Given the description of an element on the screen output the (x, y) to click on. 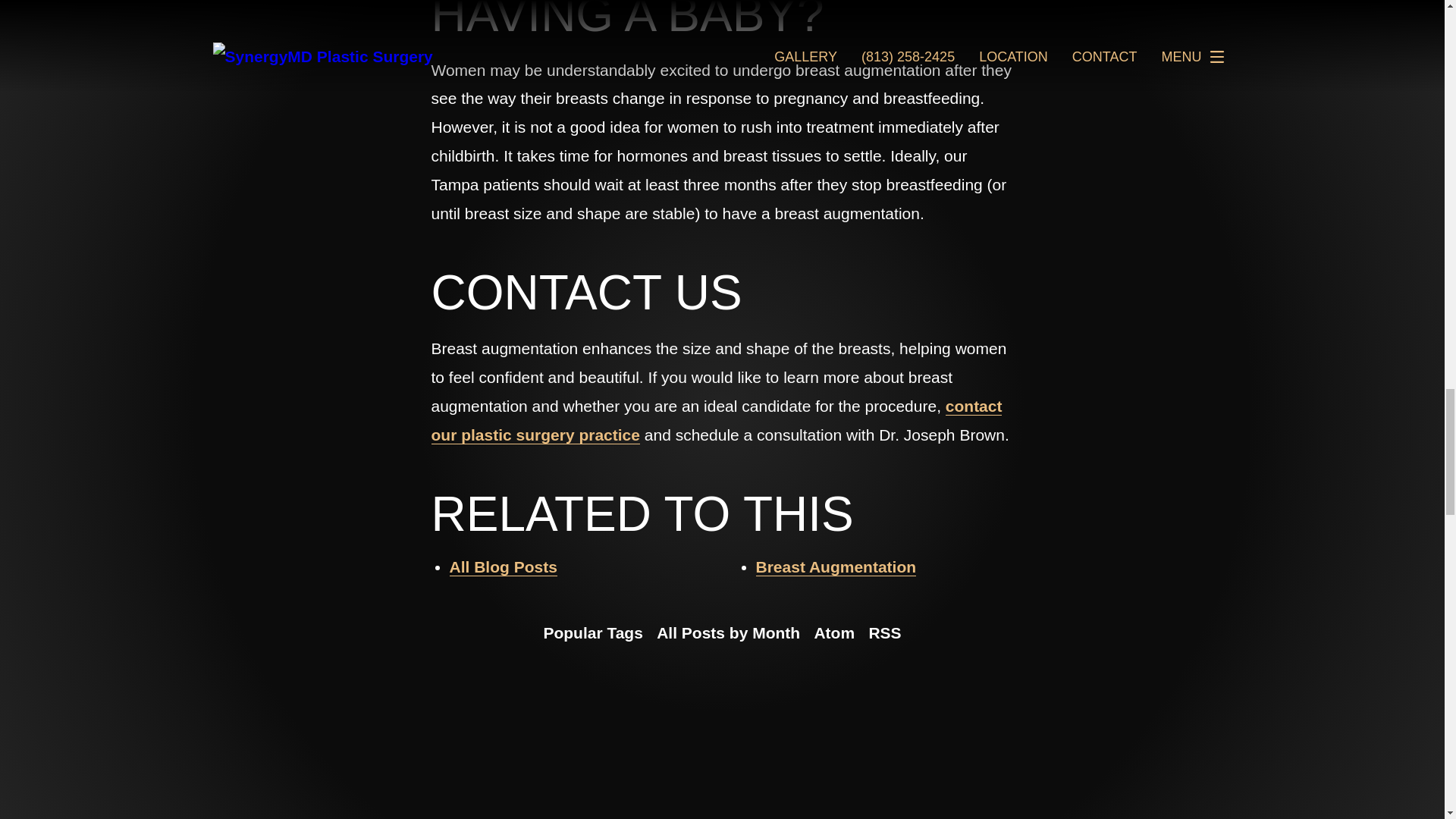
Breast Augmentation (835, 566)
All Blog Posts (502, 566)
contact our plastic surgery practice (715, 420)
All Posts by Month (727, 633)
Popular Tags (592, 633)
Atom (833, 633)
RSS (884, 633)
